Given the description of an element on the screen output the (x, y) to click on. 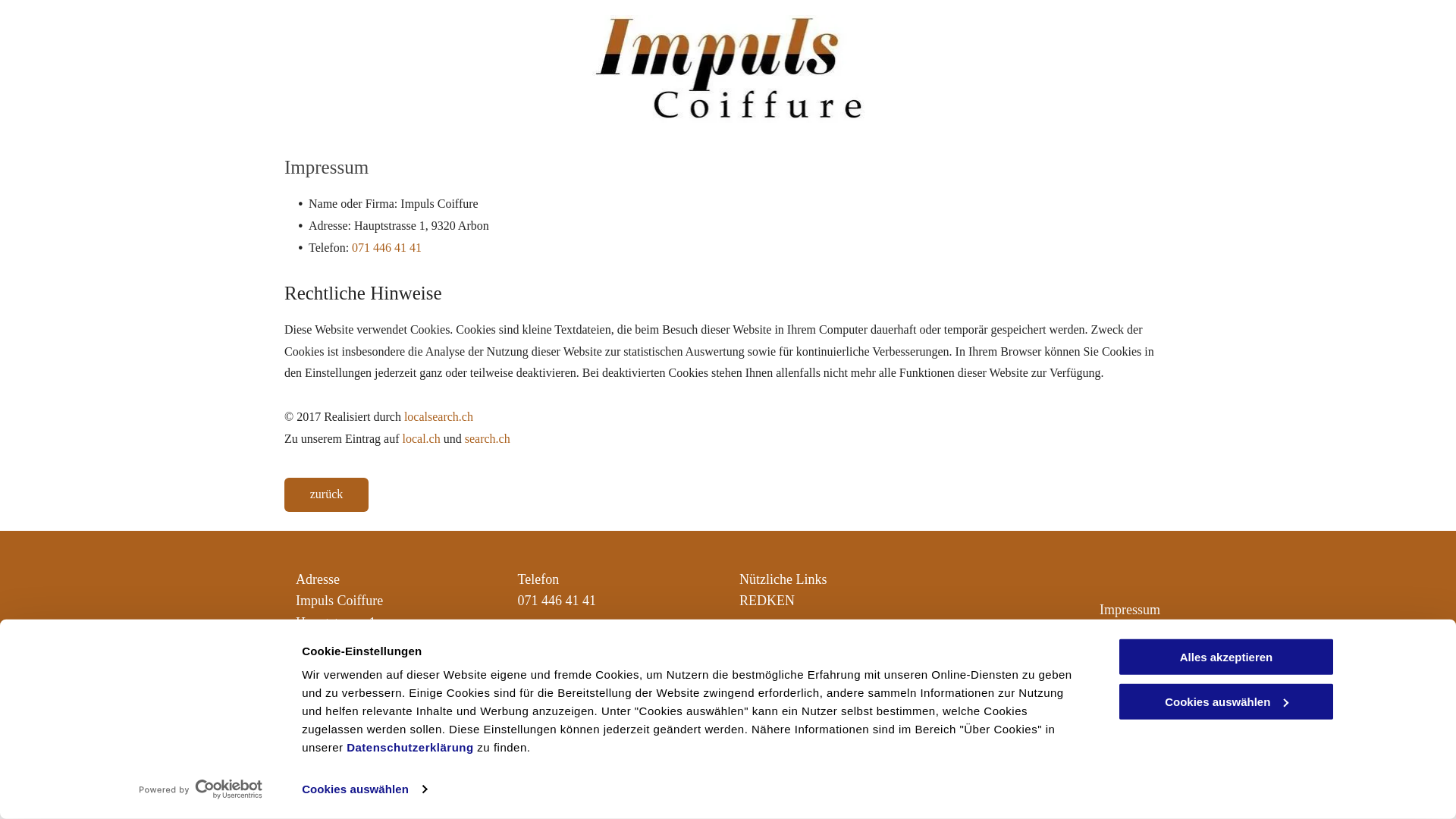
search.ch Element type: text (487, 438)
Alles akzeptieren Element type: text (1225, 656)
localsearch.ch Element type: text (438, 416)
local.ch Element type: text (420, 438)
071 446 41 41 Element type: text (386, 247)
Impressum Element type: text (1129, 609)
REDKEN Element type: text (766, 600)
071 446 41 41 Element type: text (556, 600)
